Given the description of an element on the screen output the (x, y) to click on. 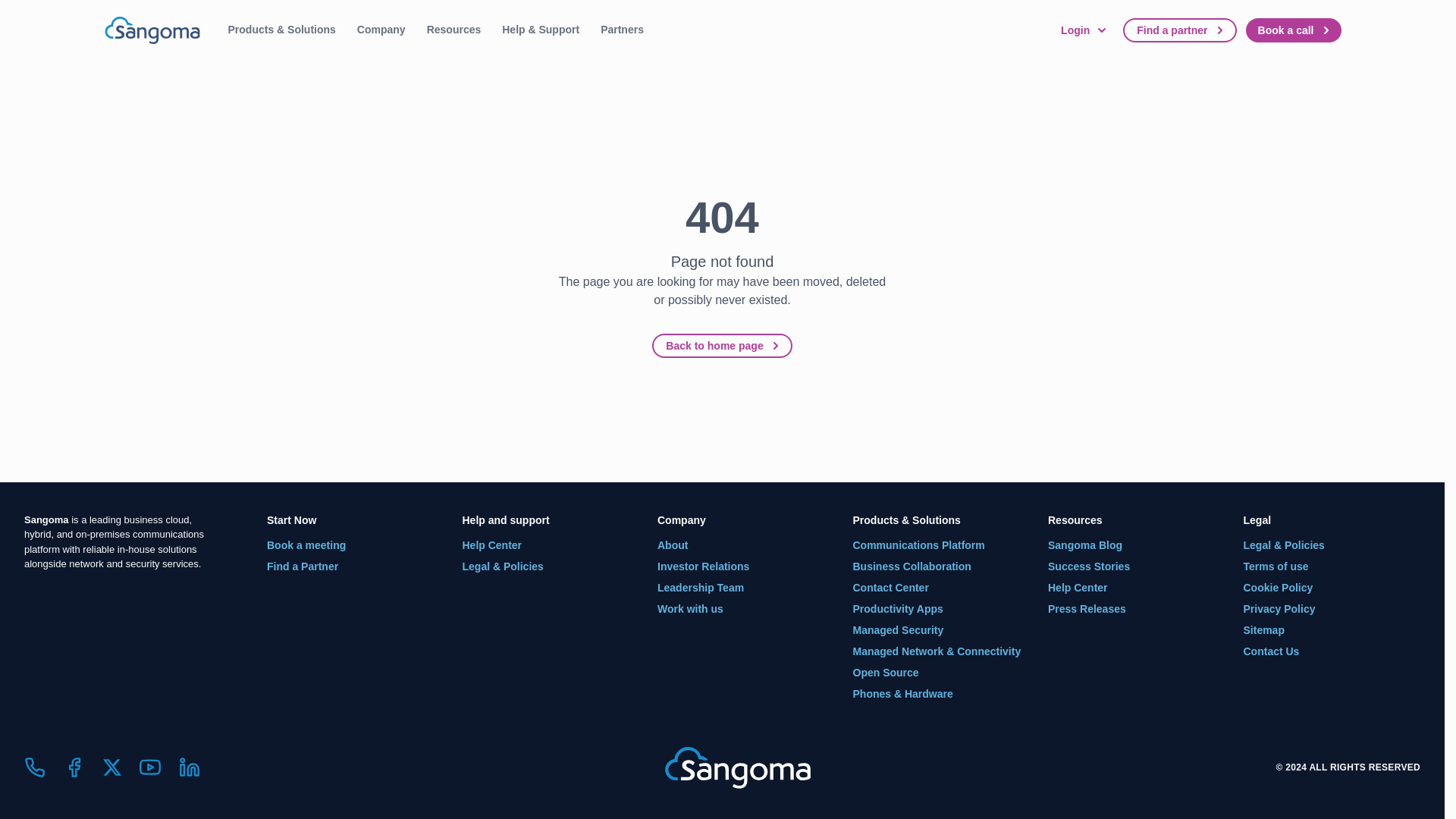
Company (381, 29)
Resources (453, 29)
Partners (621, 29)
